Given the description of an element on the screen output the (x, y) to click on. 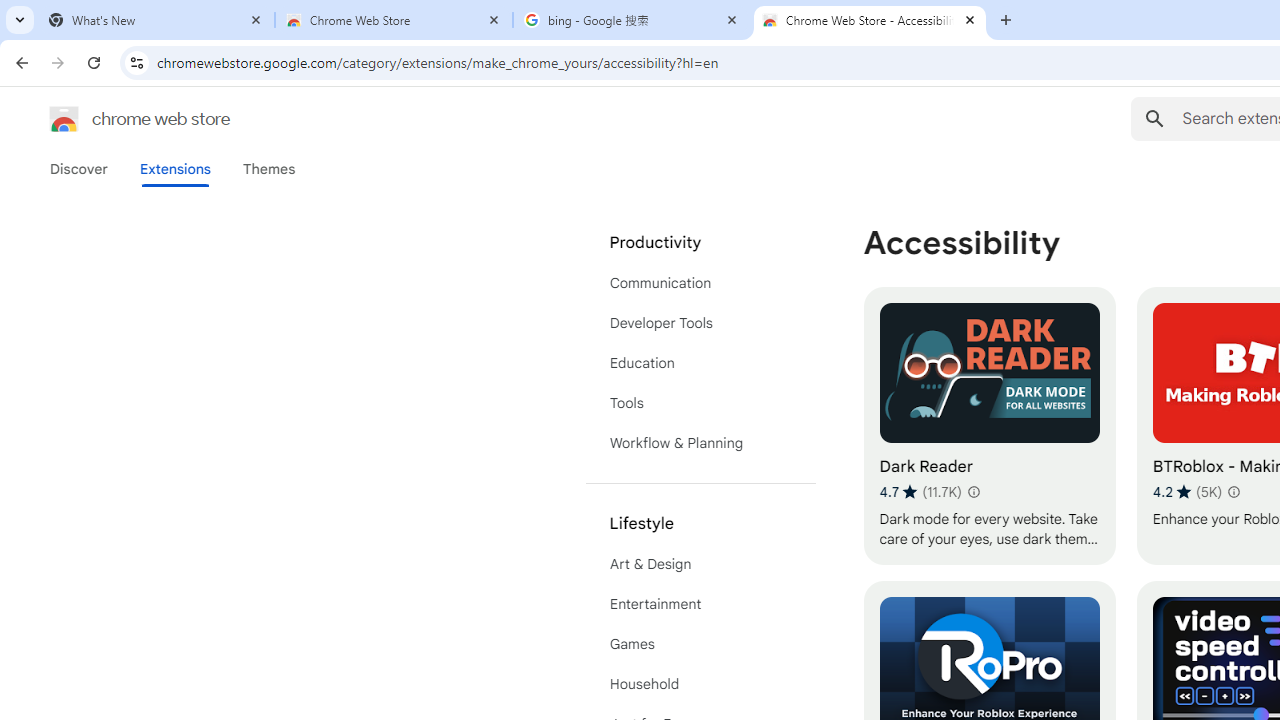
Education (700, 362)
Games (700, 643)
Developer Tools (700, 322)
Chrome Web Store - Accessibility (870, 20)
Learn more about results and reviews "Dark Reader" (972, 491)
Chrome Web Store logo (63, 118)
Dark Reader (989, 426)
Extensions (174, 169)
Themes (269, 169)
Chrome Web Store logo chrome web store (118, 118)
Average rating 4.2 out of 5 stars. 5K ratings. (1187, 491)
Household (700, 683)
